Given the description of an element on the screen output the (x, y) to click on. 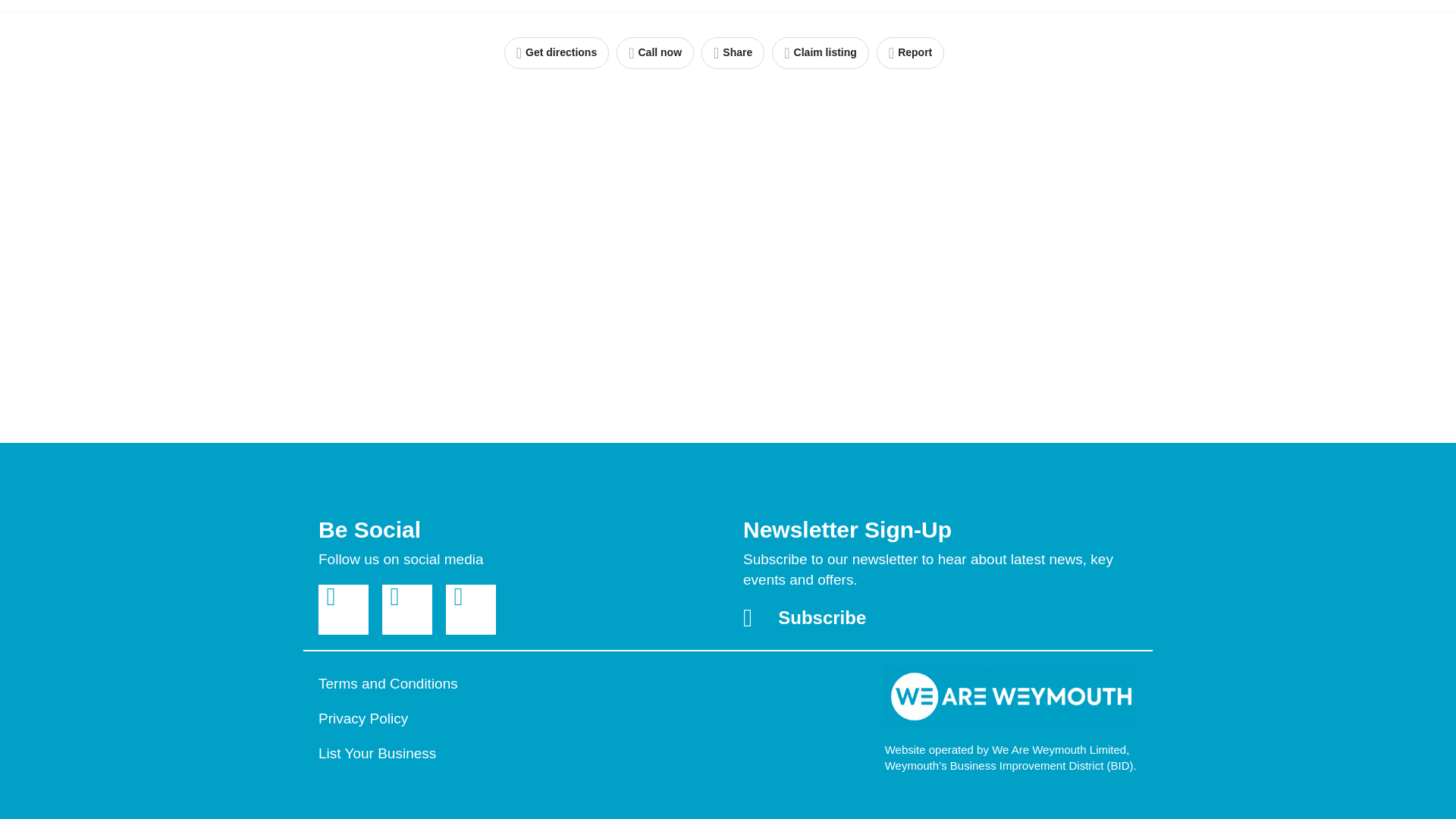
Report (909, 52)
Get directions (555, 52)
Claim listing (820, 52)
Share (732, 52)
Call now (654, 52)
